Given the description of an element on the screen output the (x, y) to click on. 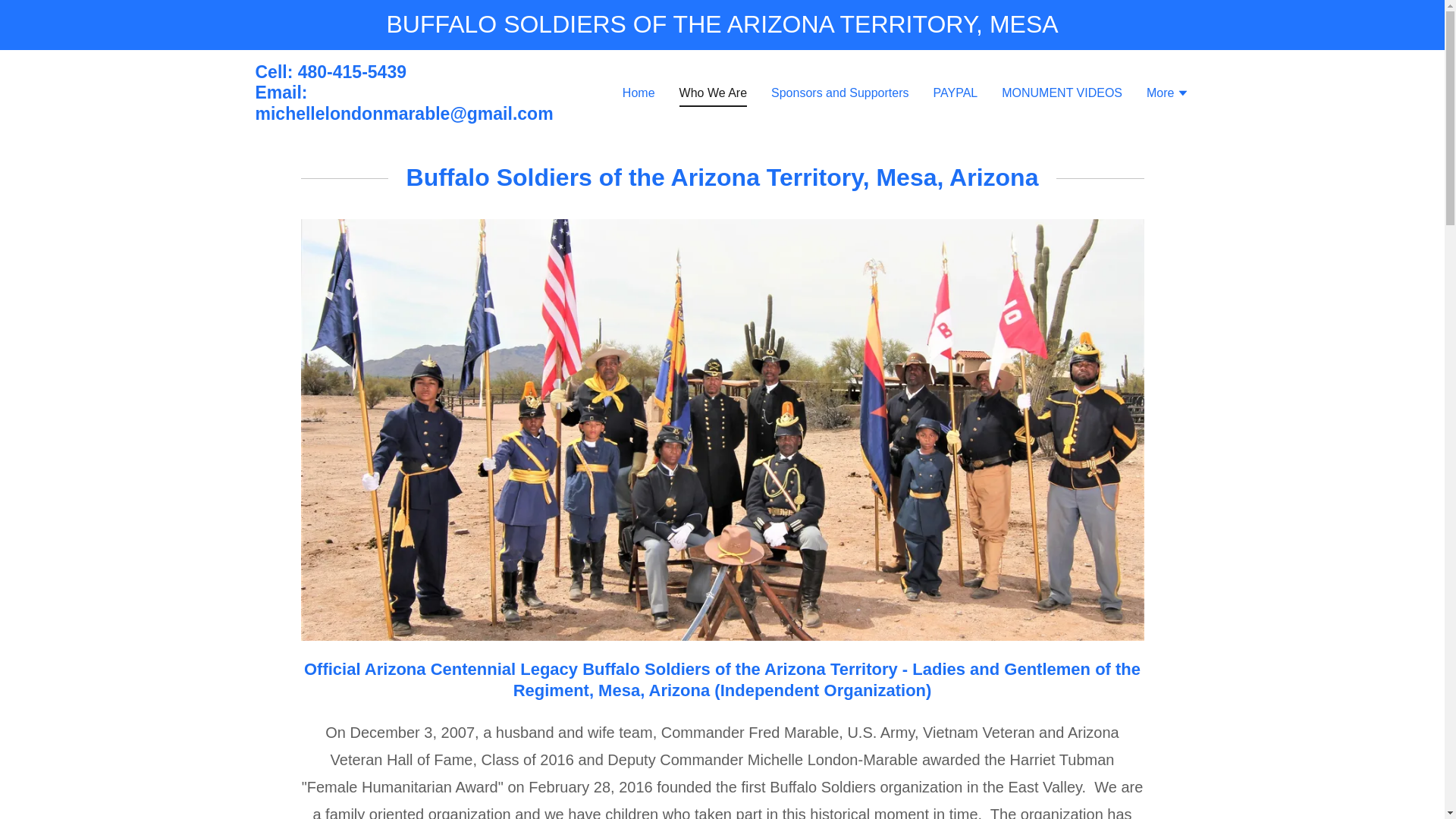
Home (638, 92)
Sponsors and Supporters (839, 92)
MONUMENT VIDEOS (1061, 92)
More (1168, 94)
Who We Are (713, 95)
PAYPAL (954, 92)
